Given the description of an element on the screen output the (x, y) to click on. 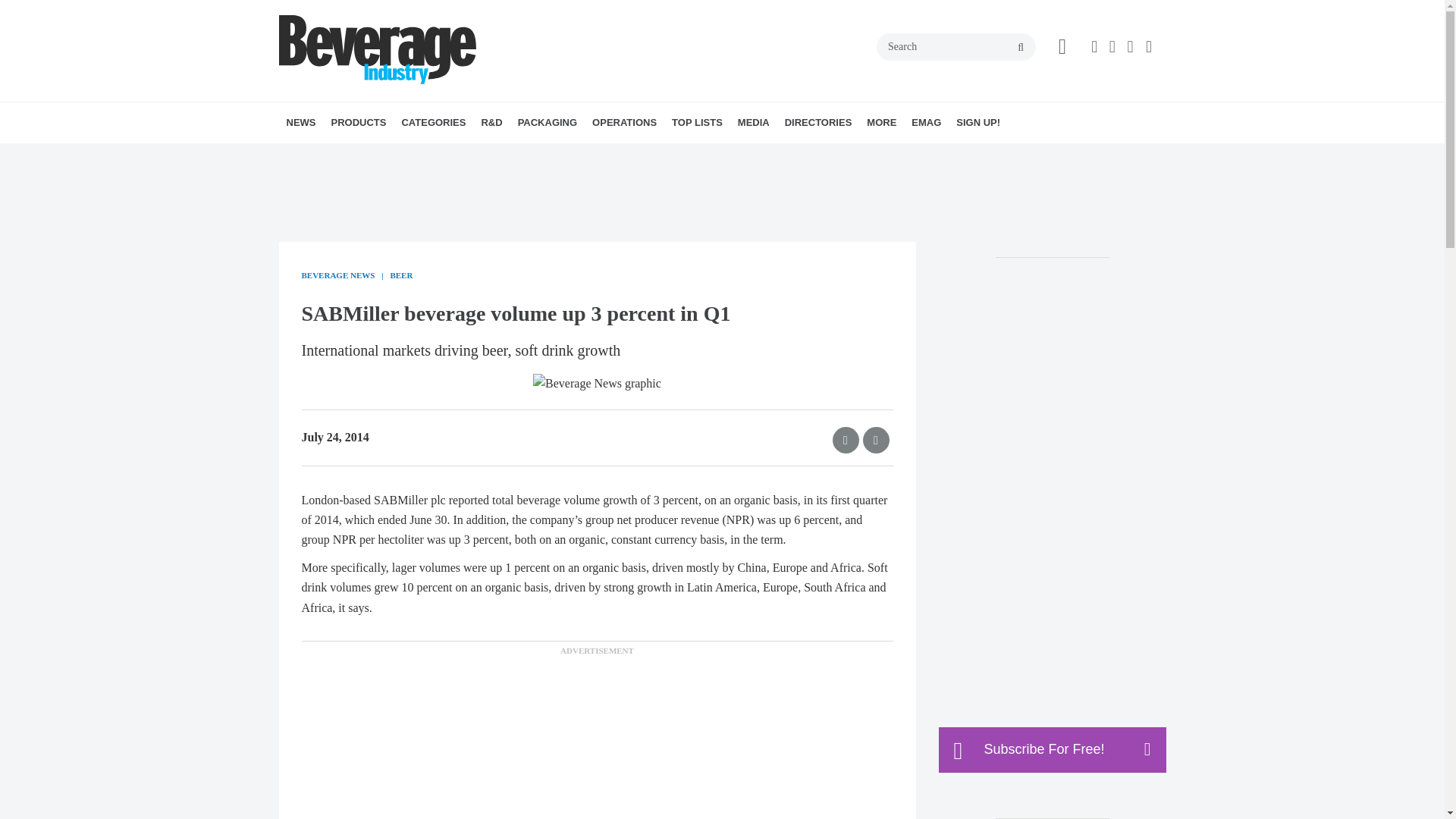
PRODUCTS (358, 122)
NEW PACKAGES (605, 155)
CANNABIS BEVERAGES (507, 155)
NEW PRODUCTS (417, 155)
CARBONATED SOFT DRINKS (512, 155)
Search (955, 46)
PACKAGING (548, 122)
Search (955, 46)
READER'S CHOICE POLL (424, 155)
PACKAGING MATERIAL (617, 155)
